Given the description of an element on the screen output the (x, y) to click on. 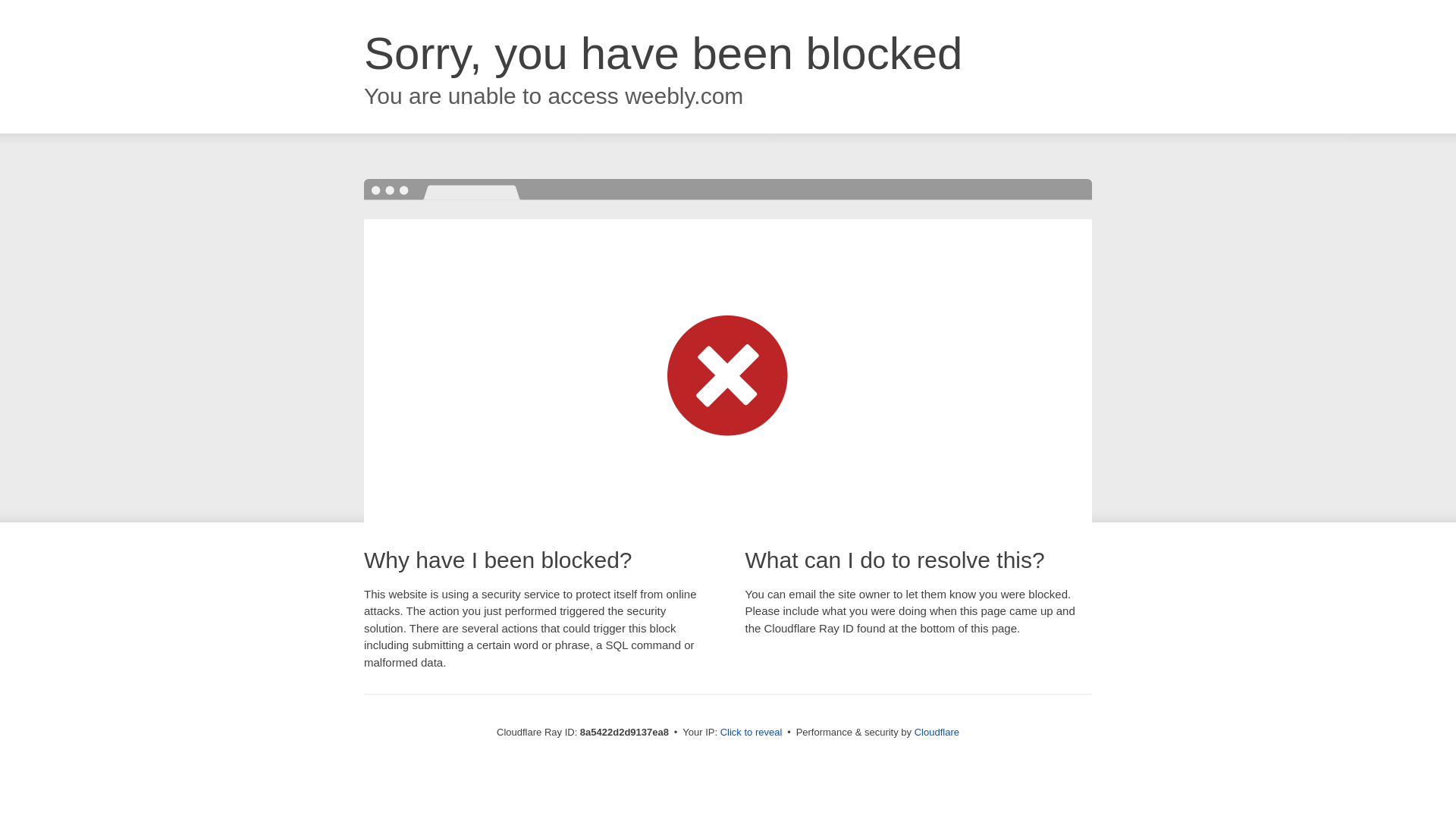
Click to reveal (751, 732)
Cloudflare (936, 731)
